Given the description of an element on the screen output the (x, y) to click on. 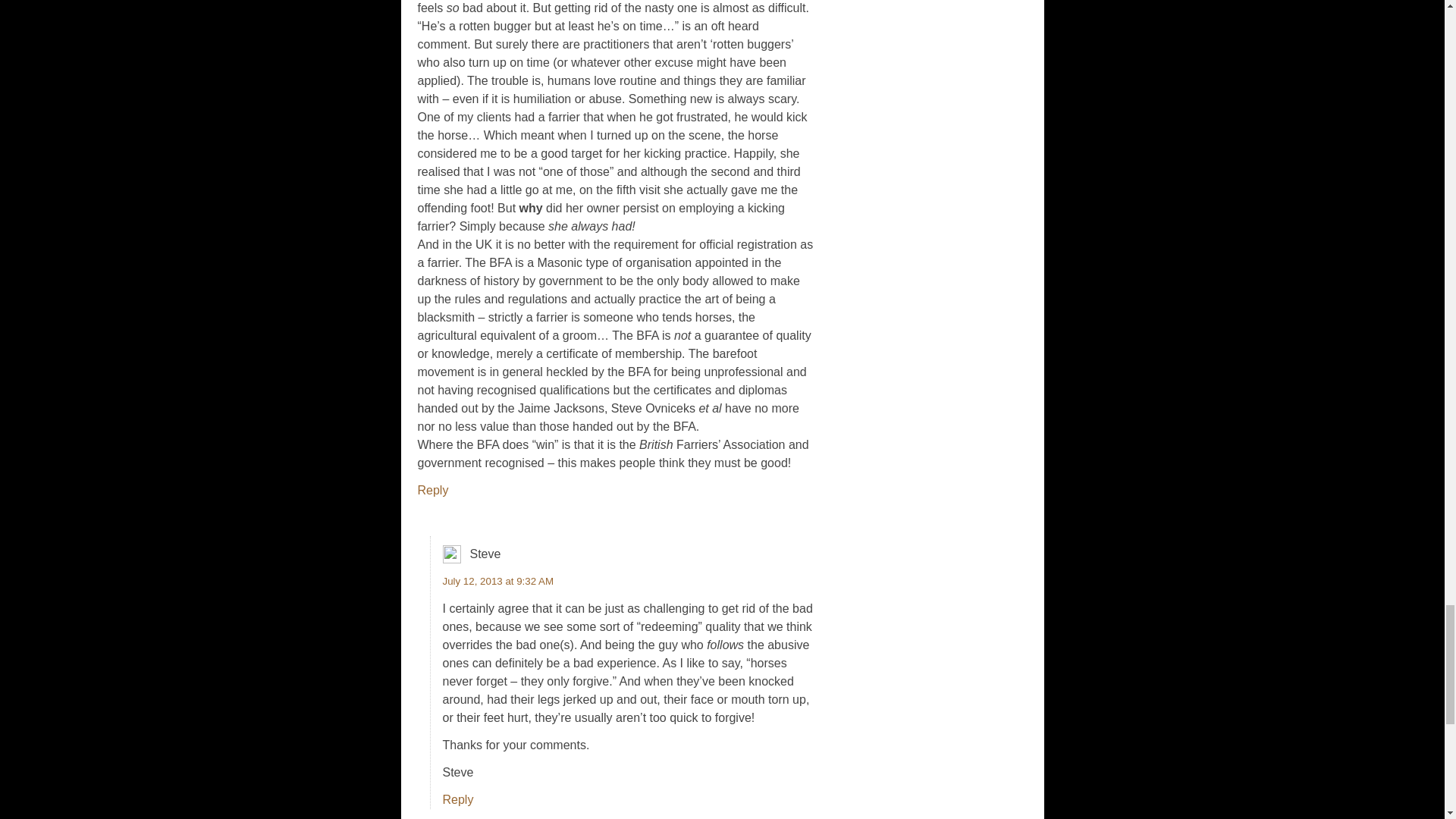
Reply (458, 799)
July 12, 2013 at 9:32 AM (498, 581)
Reply (432, 490)
